Given the description of an element on the screen output the (x, y) to click on. 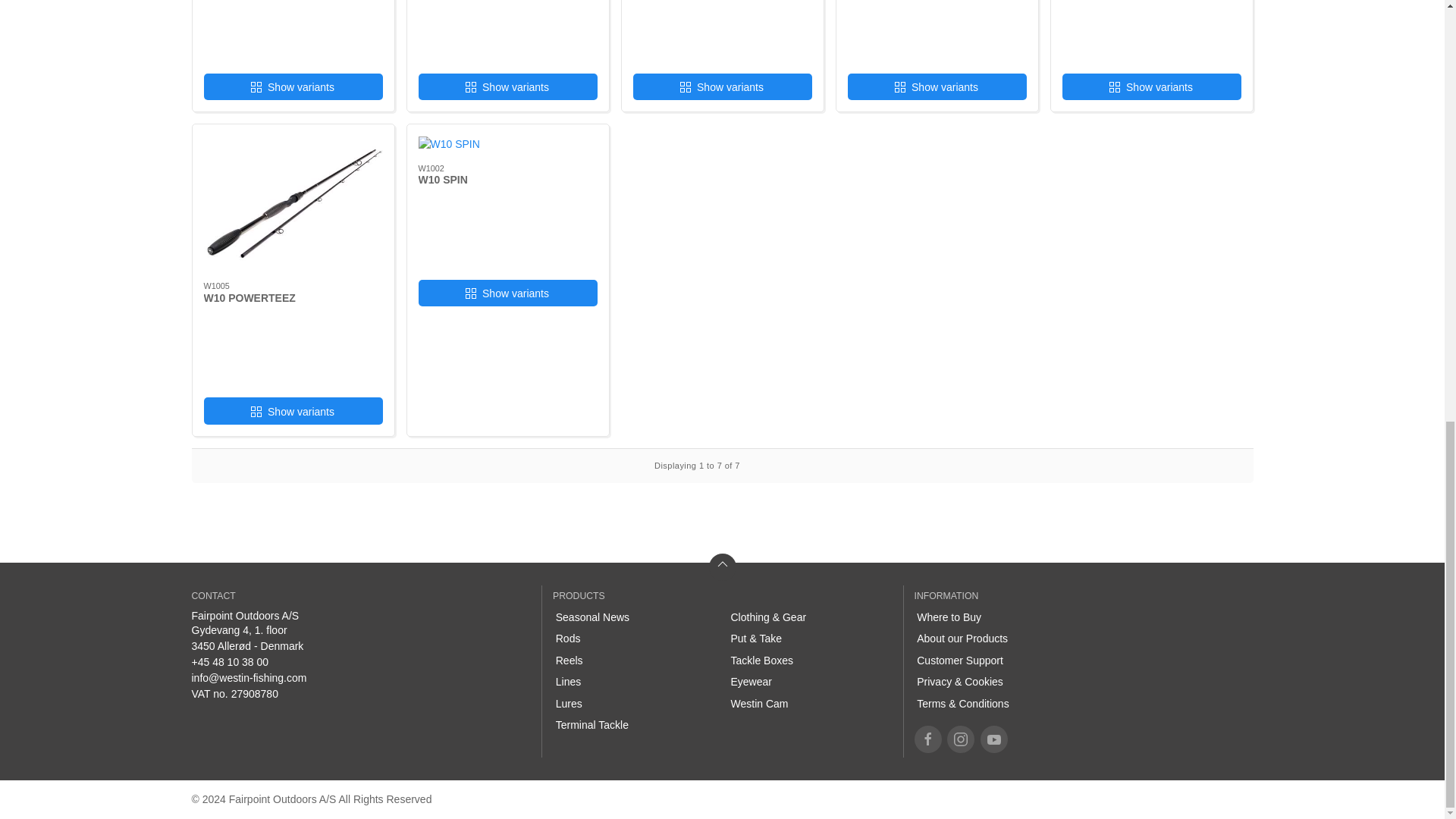
Show variants (1150, 86)
Instagram (960, 738)
W10 POWERTEEZ (249, 297)
Back to top (721, 566)
Show variants (936, 86)
Show variants (507, 86)
Show variants (292, 86)
Show variants (292, 410)
Youtube (993, 738)
Show variants (720, 86)
